Given the description of an element on the screen output the (x, y) to click on. 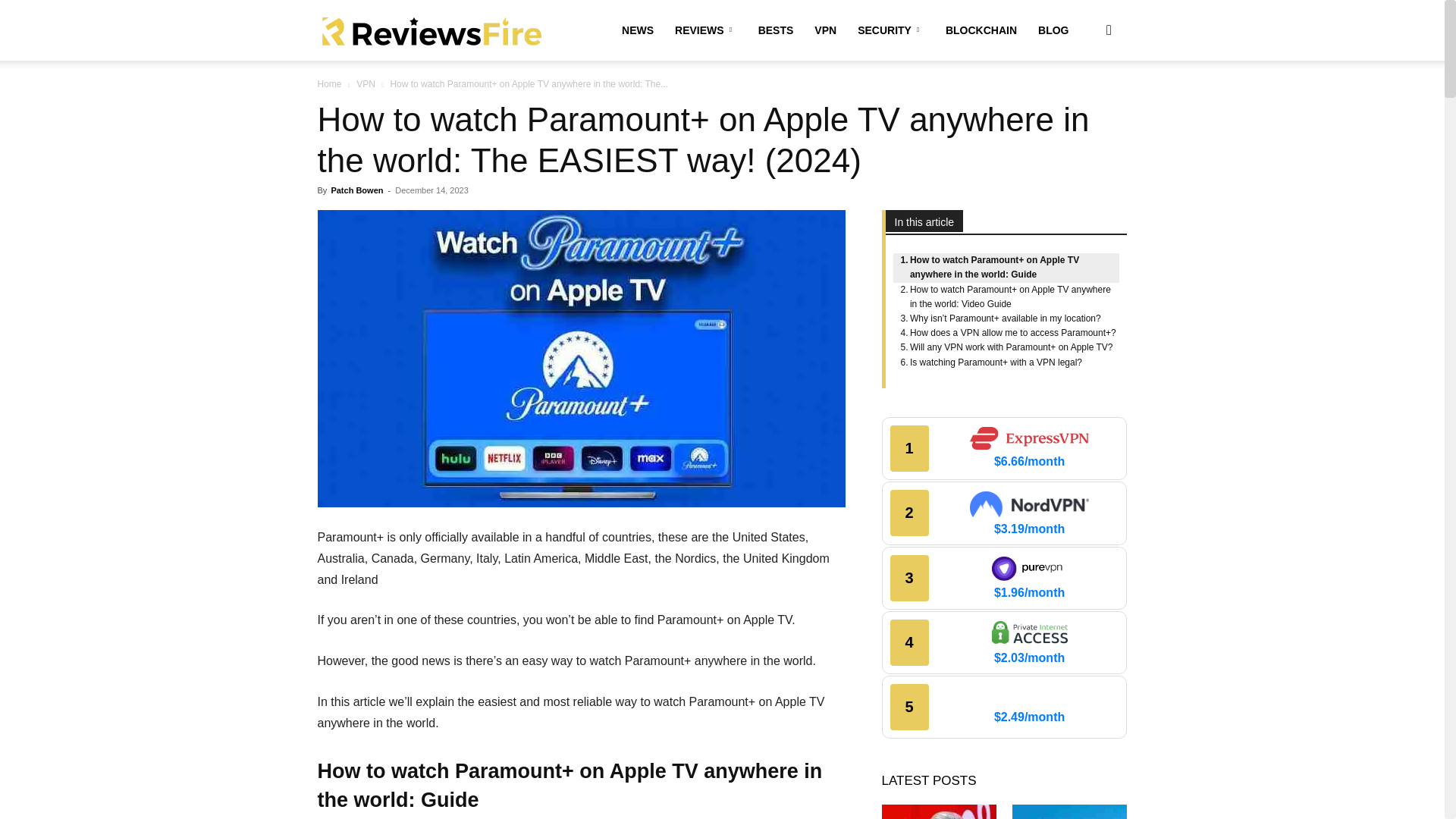
VPN (365, 83)
SECURITY (890, 30)
BLOCKCHAIN (980, 30)
Patch Bowen (356, 189)
Home (328, 83)
ReviewsFire (430, 30)
Search (1085, 102)
REVIEWS (705, 30)
BESTS (776, 30)
View all posts in VPN (365, 83)
